Given the description of an element on the screen output the (x, y) to click on. 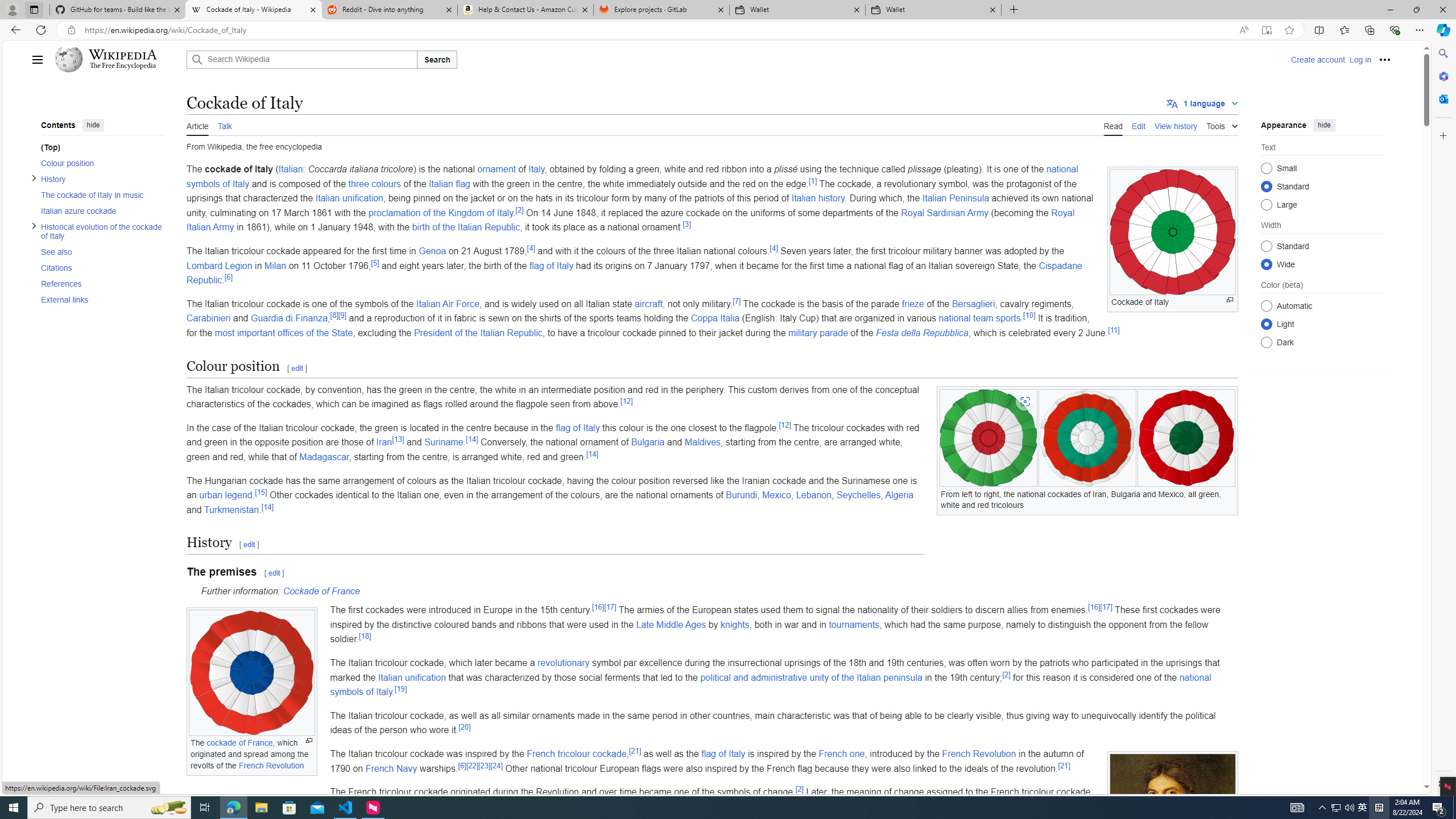
national team sports (979, 318)
[12] (784, 424)
Read (1112, 124)
[19] (400, 688)
View history (1176, 124)
Late Middle Ages (671, 624)
hide (1324, 124)
External links (101, 299)
Italian flag (449, 183)
Edit (1138, 124)
Burundi (741, 495)
Small (1266, 167)
Main menu (37, 59)
French Revolution (979, 753)
